Given the description of an element on the screen output the (x, y) to click on. 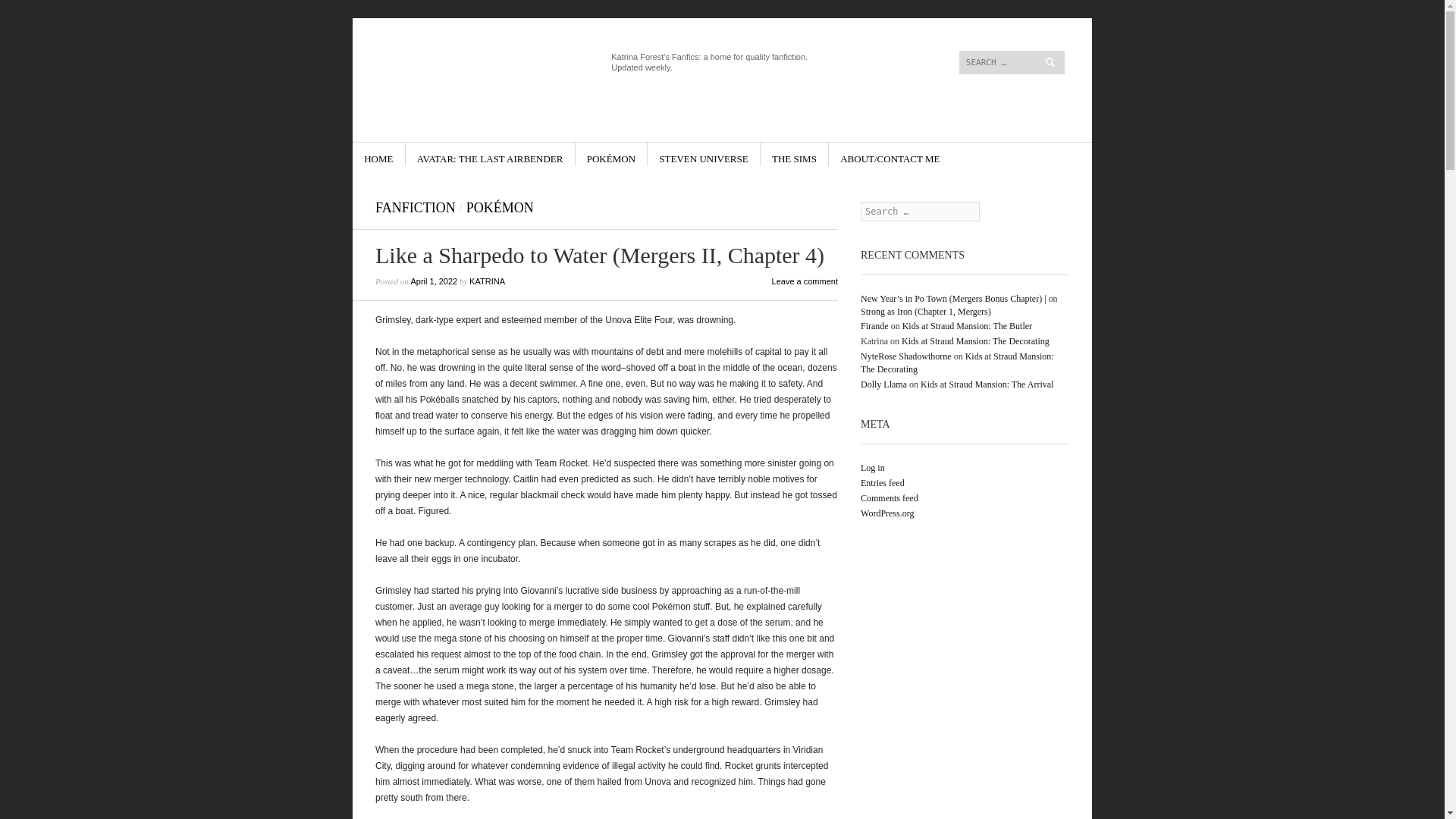
Kids at Straud Mansion: The Arrival (986, 384)
Search (26, 9)
11:58 pm (433, 280)
SKIP TO CONTENT (406, 154)
View all posts by Katrina (486, 280)
Skip to content (885, 23)
HOME (378, 154)
NyteRose Shadowthorne (906, 356)
Log in (872, 467)
Skip to content (885, 23)
KATRINA (486, 280)
Dolly Llama (883, 384)
STEVEN UNIVERSE (703, 154)
Leave a comment (804, 280)
Kids at Straud Mansion: The Butler (967, 326)
